Given the description of an element on the screen output the (x, y) to click on. 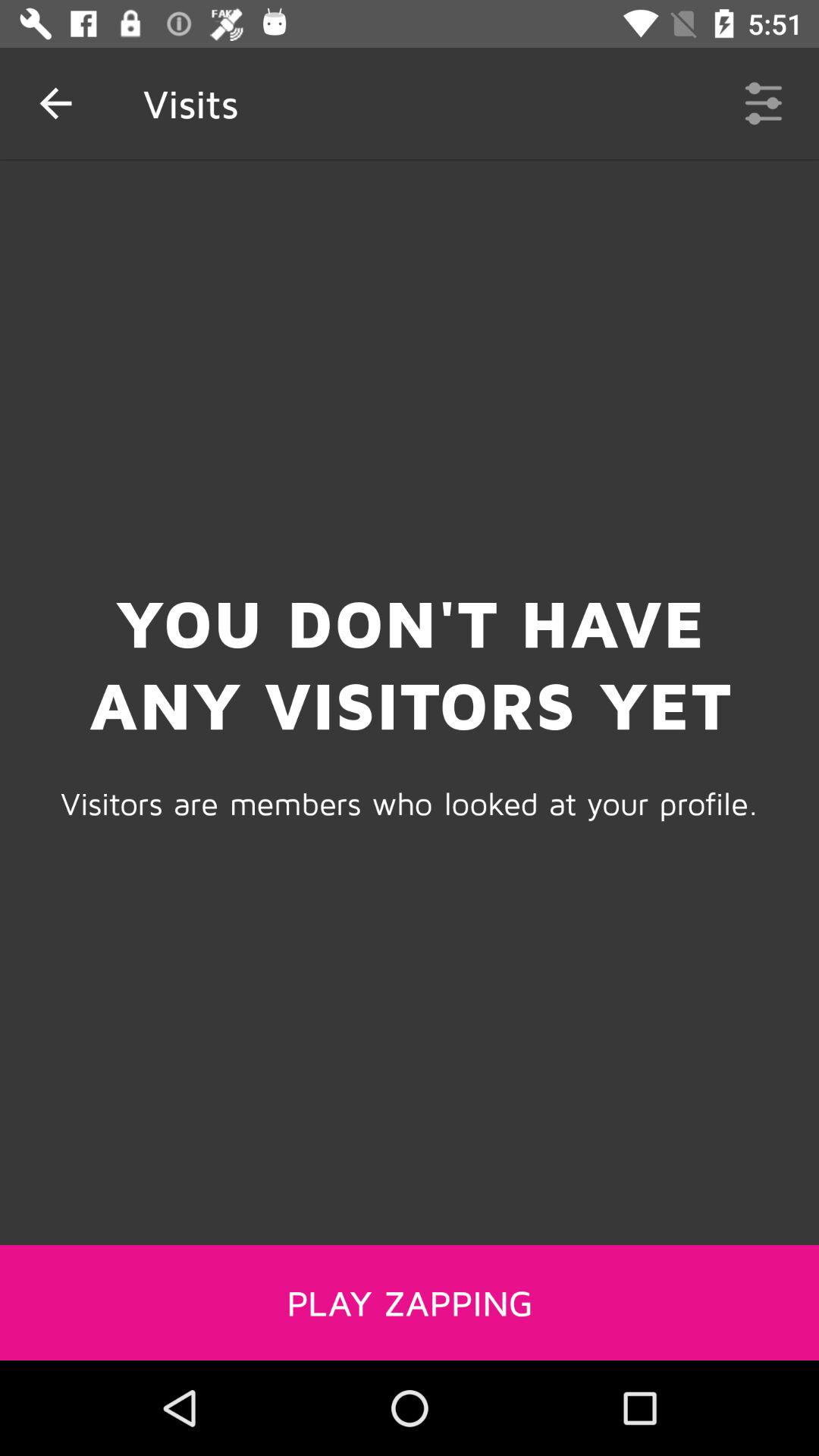
turn off item at the top right corner (763, 103)
